Given the description of an element on the screen output the (x, y) to click on. 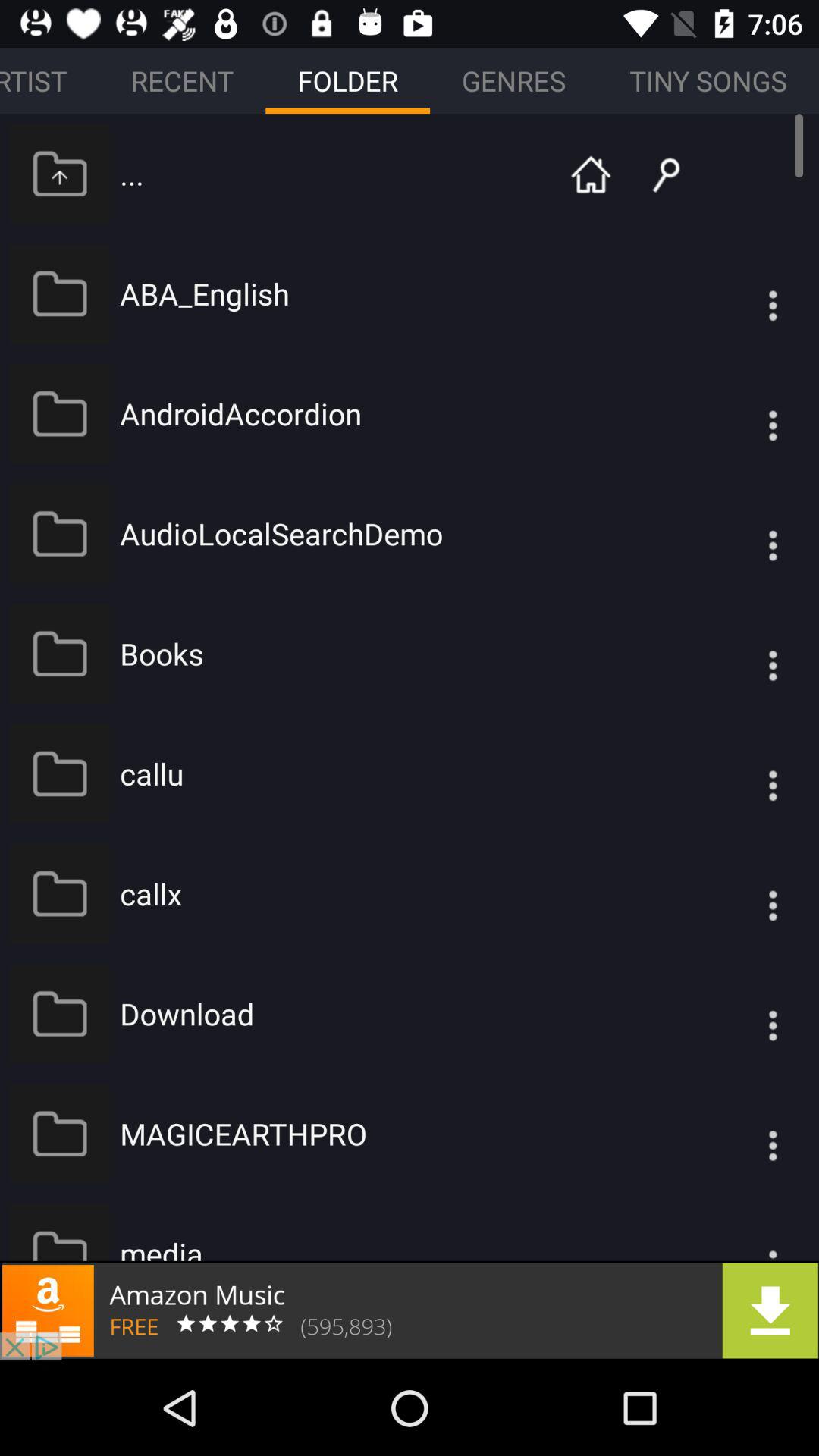
folder menu (742, 413)
